Given the description of an element on the screen output the (x, y) to click on. 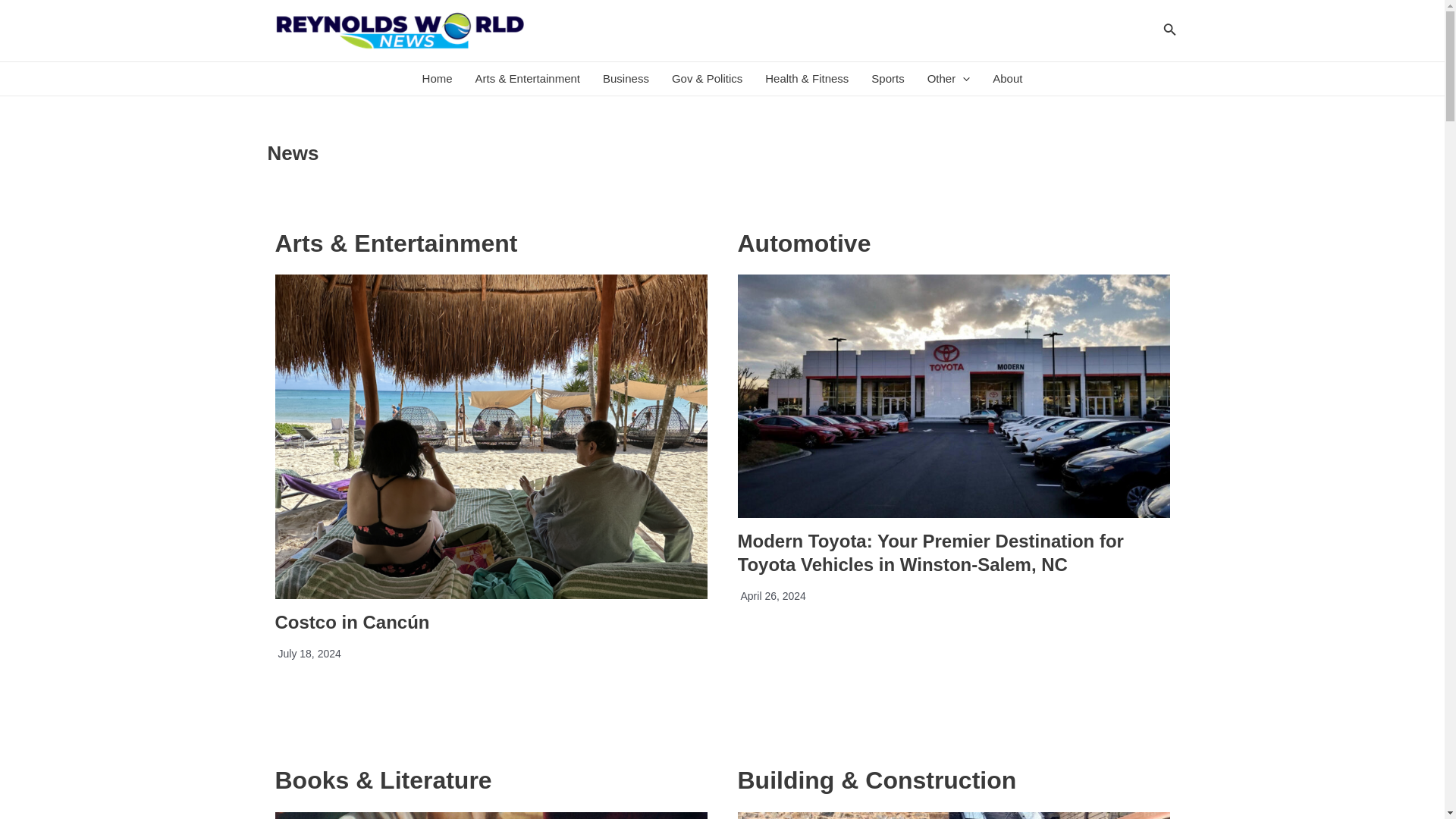
Business (626, 78)
Sports (887, 78)
Other (948, 78)
About (1007, 78)
Home (437, 78)
